Given the description of an element on the screen output the (x, y) to click on. 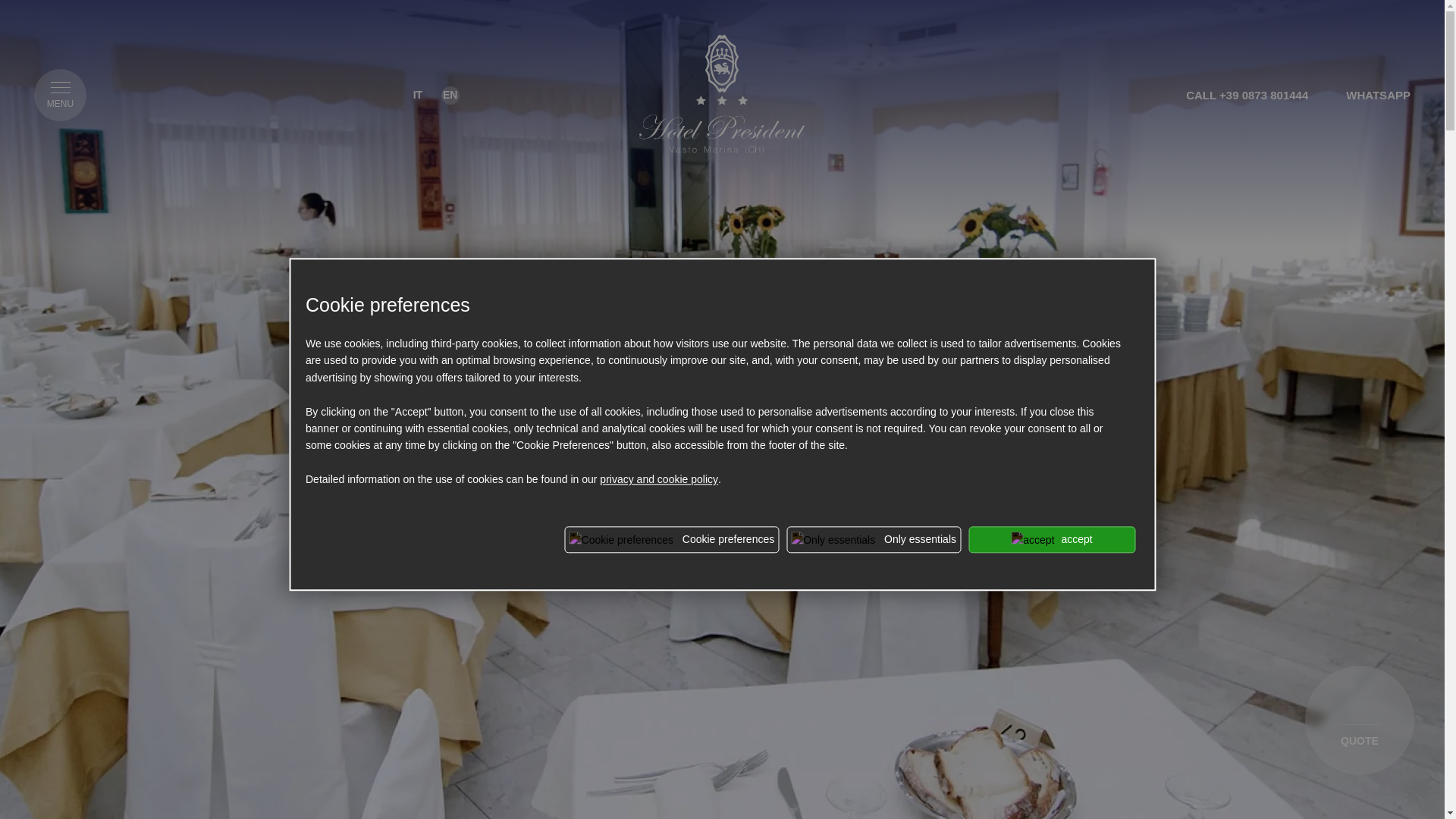
accept (1051, 539)
EN (450, 95)
QUOTE (1358, 719)
Cookie preferences (671, 539)
WHATSAPP (1377, 93)
IT (417, 95)
privacy and cookie policy (658, 478)
WhatsApp (1377, 93)
Only essentials (873, 539)
